Given the description of an element on the screen output the (x, y) to click on. 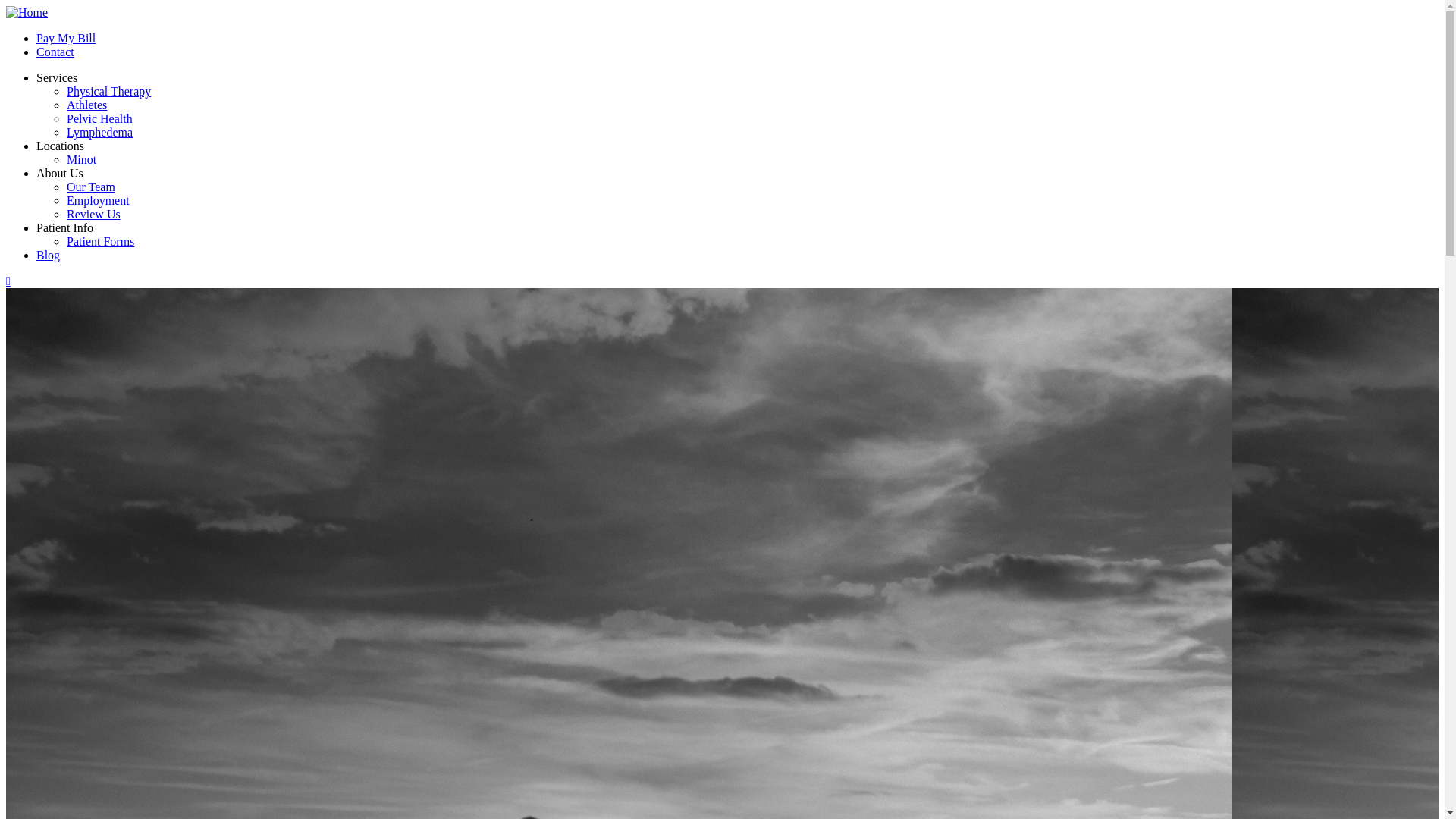
Physical Therapy Element type: text (108, 90)
Skip to main navigation Element type: text (6, 6)
Minot Element type: text (81, 159)
Pelvic Health Element type: text (99, 118)
Our Team Element type: text (90, 186)
Blog Element type: text (47, 254)
Employment Element type: text (97, 200)
Review Us Element type: text (93, 213)
Athletes Element type: text (86, 104)
Home Element type: hover (26, 12)
Contact Element type: text (55, 51)
Patient Forms Element type: text (100, 241)
Lymphedema Element type: text (99, 131)
Pay My Bill Element type: text (65, 37)
